Given the description of an element on the screen output the (x, y) to click on. 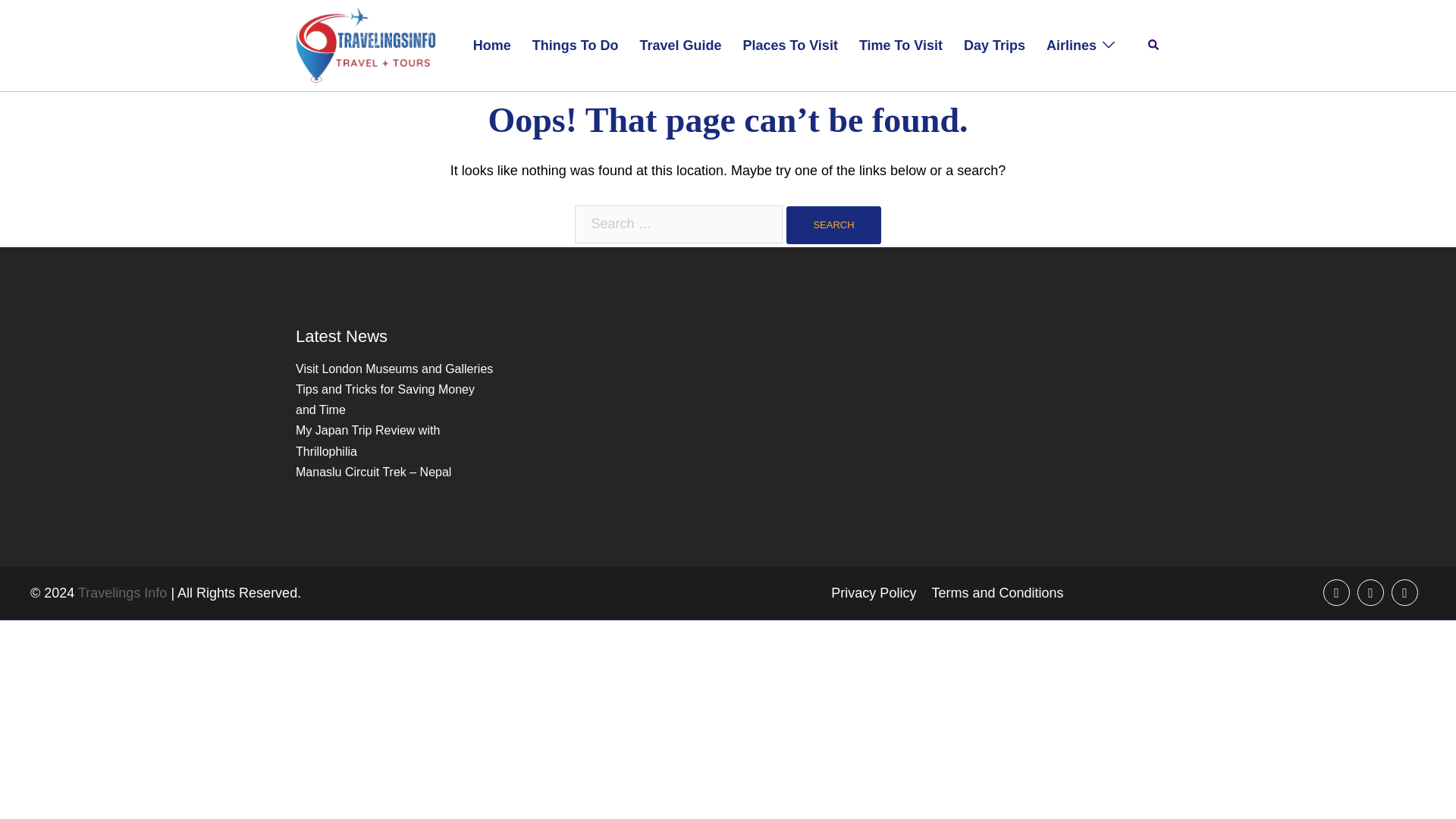
Search (833, 225)
facebook (1336, 592)
Search (833, 225)
Privacy Policy (873, 592)
Travel Guide (679, 45)
Search (1154, 45)
Time To Visit (900, 45)
Day Trips (994, 45)
Travelings Info (365, 44)
